Given the description of an element on the screen output the (x, y) to click on. 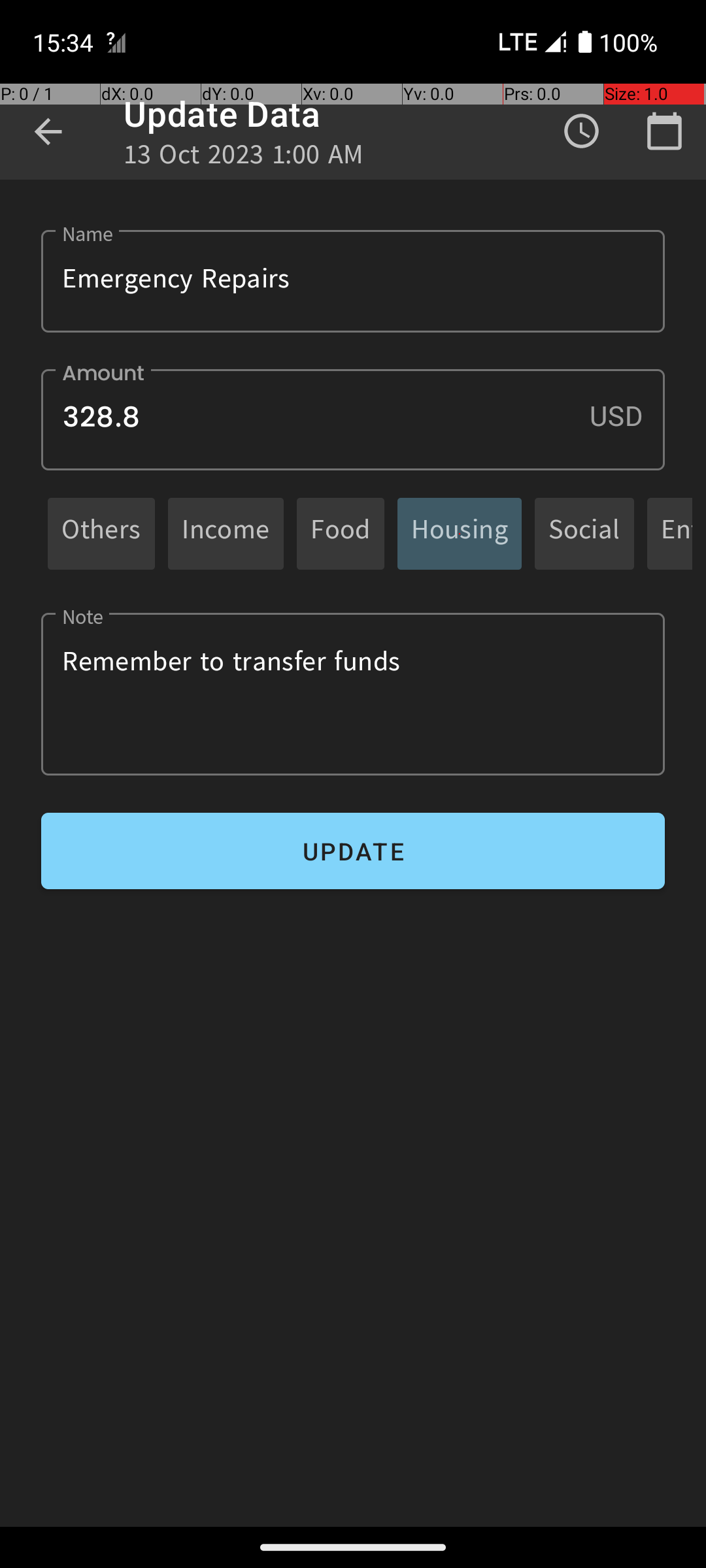
13 Oct 2023 1:00 AM Element type: android.widget.TextView (243, 157)
Emergency Repairs Element type: android.widget.EditText (352, 280)
328.8 Element type: android.widget.EditText (352, 419)
Others Element type: android.widget.TextView (101, 533)
